Given the description of an element on the screen output the (x, y) to click on. 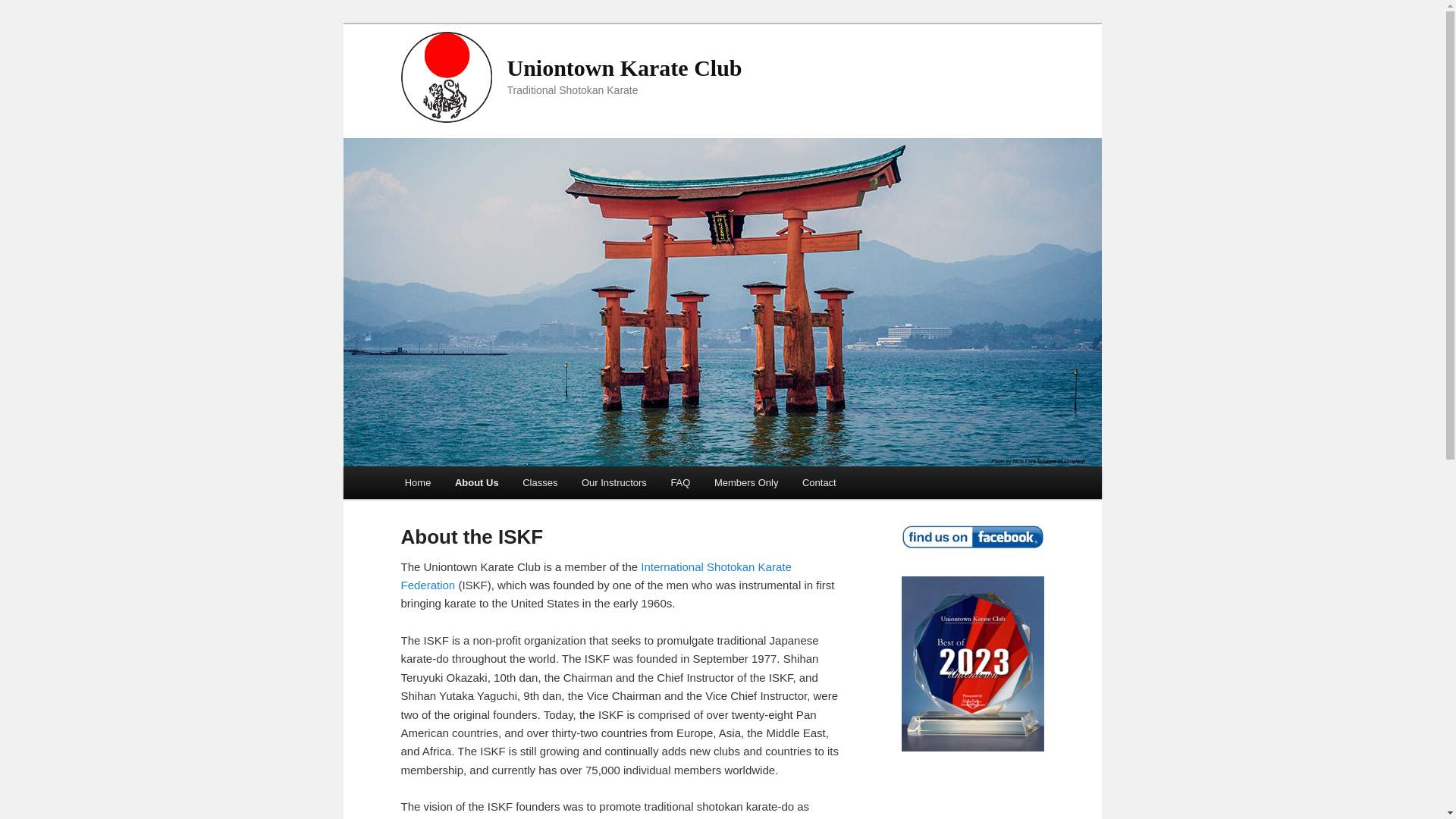
Members Only (745, 482)
About Us (476, 482)
FAQ (681, 482)
Uniontown Karate Club (623, 67)
Contact (818, 482)
Home (417, 482)
Classes (540, 482)
International Shotokan Karate Federation (595, 574)
Our Instructors (613, 482)
